Given the description of an element on the screen output the (x, y) to click on. 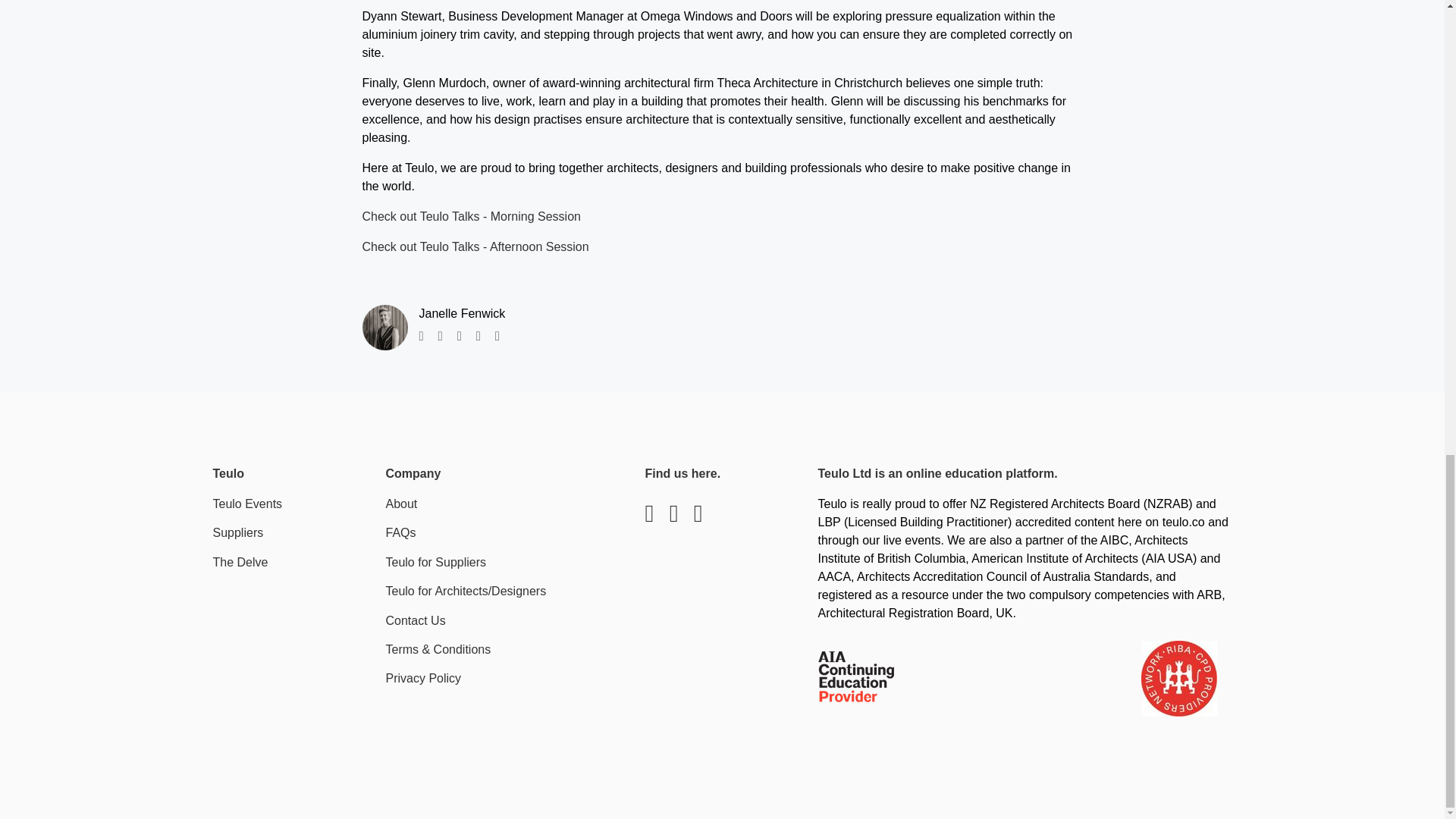
Teulo for Suppliers (435, 562)
About (400, 503)
Check out Teulo Talks - Morning Session (471, 215)
Check out Teulo Talks - Afternoon Session (475, 246)
Teulo Events (247, 503)
The Delve (239, 562)
Contact Us (415, 620)
Privacy Policy (423, 677)
FAQs (399, 532)
Suppliers (237, 532)
